Given the description of an element on the screen output the (x, y) to click on. 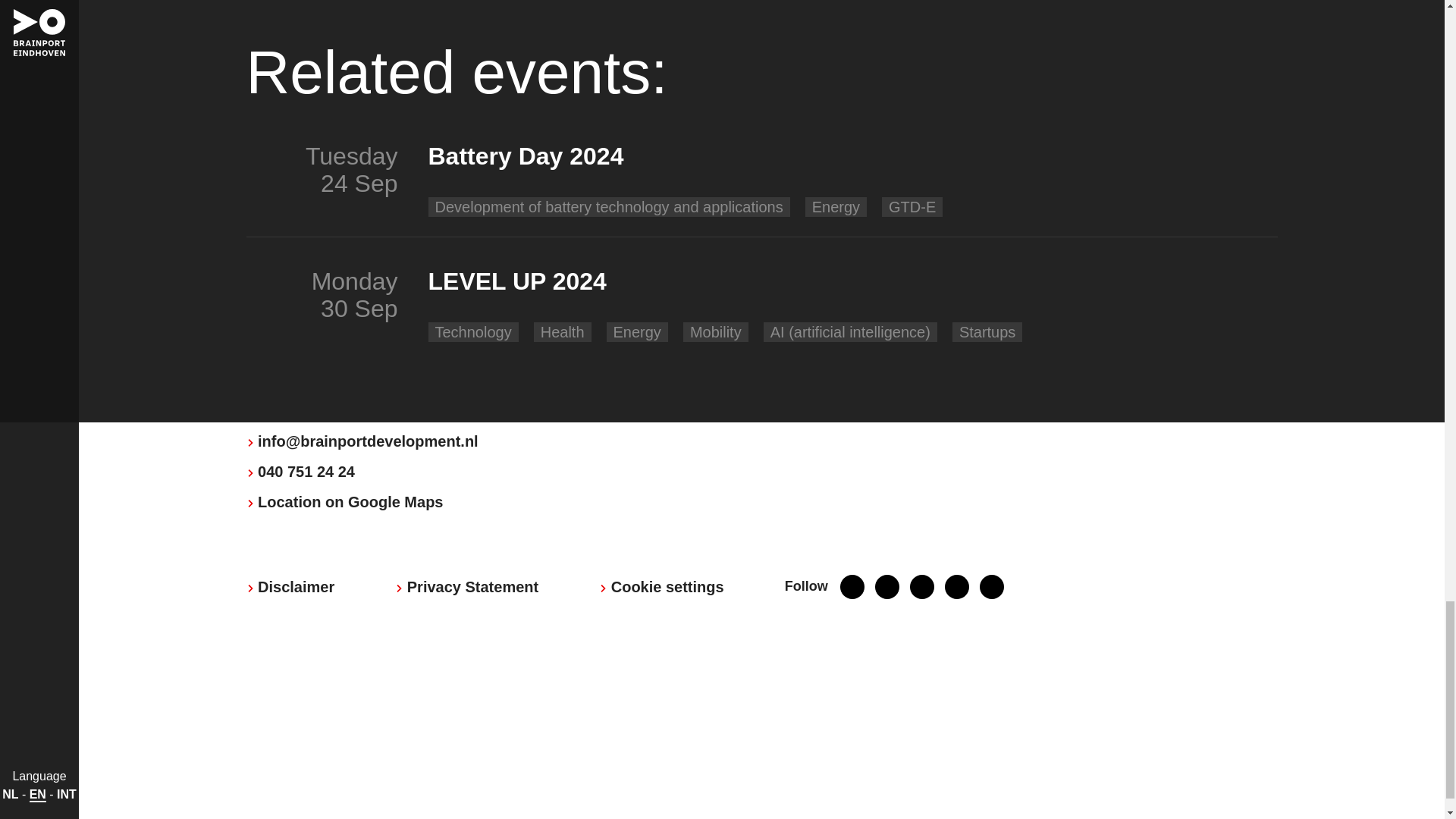
Energy (836, 207)
Battery Day 2024 (837, 162)
Technology (473, 331)
Startups (986, 331)
LEVEL UP 2024 (837, 287)
Energy (636, 331)
GTD-E (912, 207)
Mobility (715, 331)
Development of battery technology and applications (609, 207)
Health (562, 331)
